Given the description of an element on the screen output the (x, y) to click on. 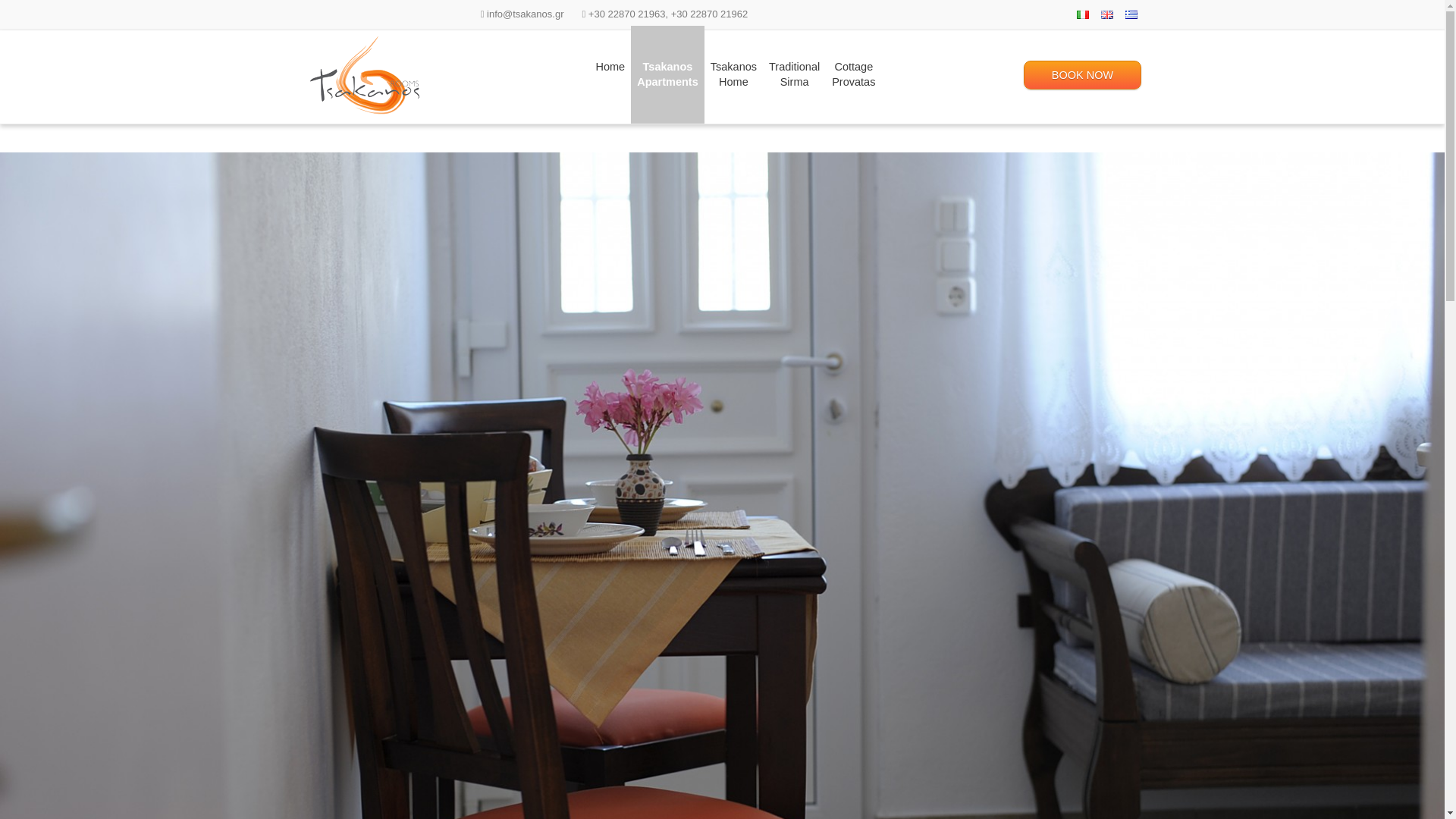
BOOK NOW (1082, 74)
BOOK NOW (1082, 75)
